Given the description of an element on the screen output the (x, y) to click on. 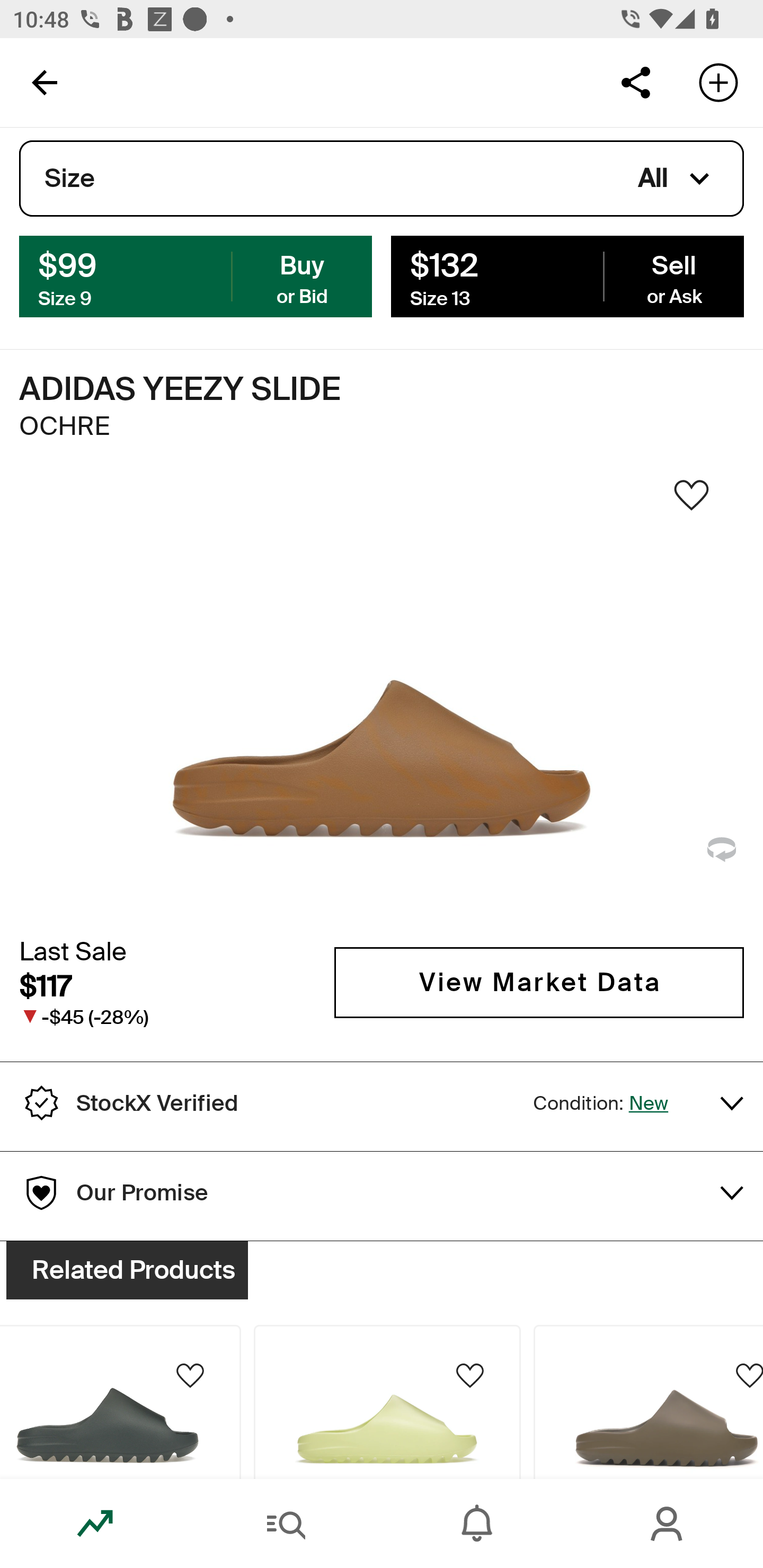
Share (635, 81)
Add (718, 81)
Size All (381, 178)
$99 Buy Size 9 or Bid (195, 275)
$132 Sell Size 13 or Ask (566, 275)
Sneaker Image (381, 699)
View Market Data (538, 982)
Product Image (120, 1401)
Product Image (387, 1401)
Product Image (648, 1401)
Search (285, 1523)
Inbox (476, 1523)
Account (667, 1523)
